Given the description of an element on the screen output the (x, y) to click on. 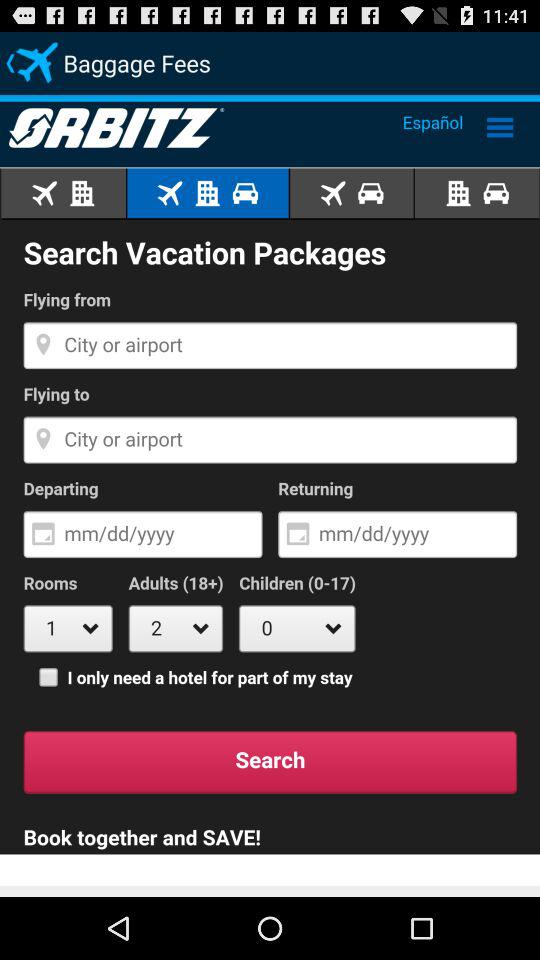
search (270, 495)
